Given the description of an element on the screen output the (x, y) to click on. 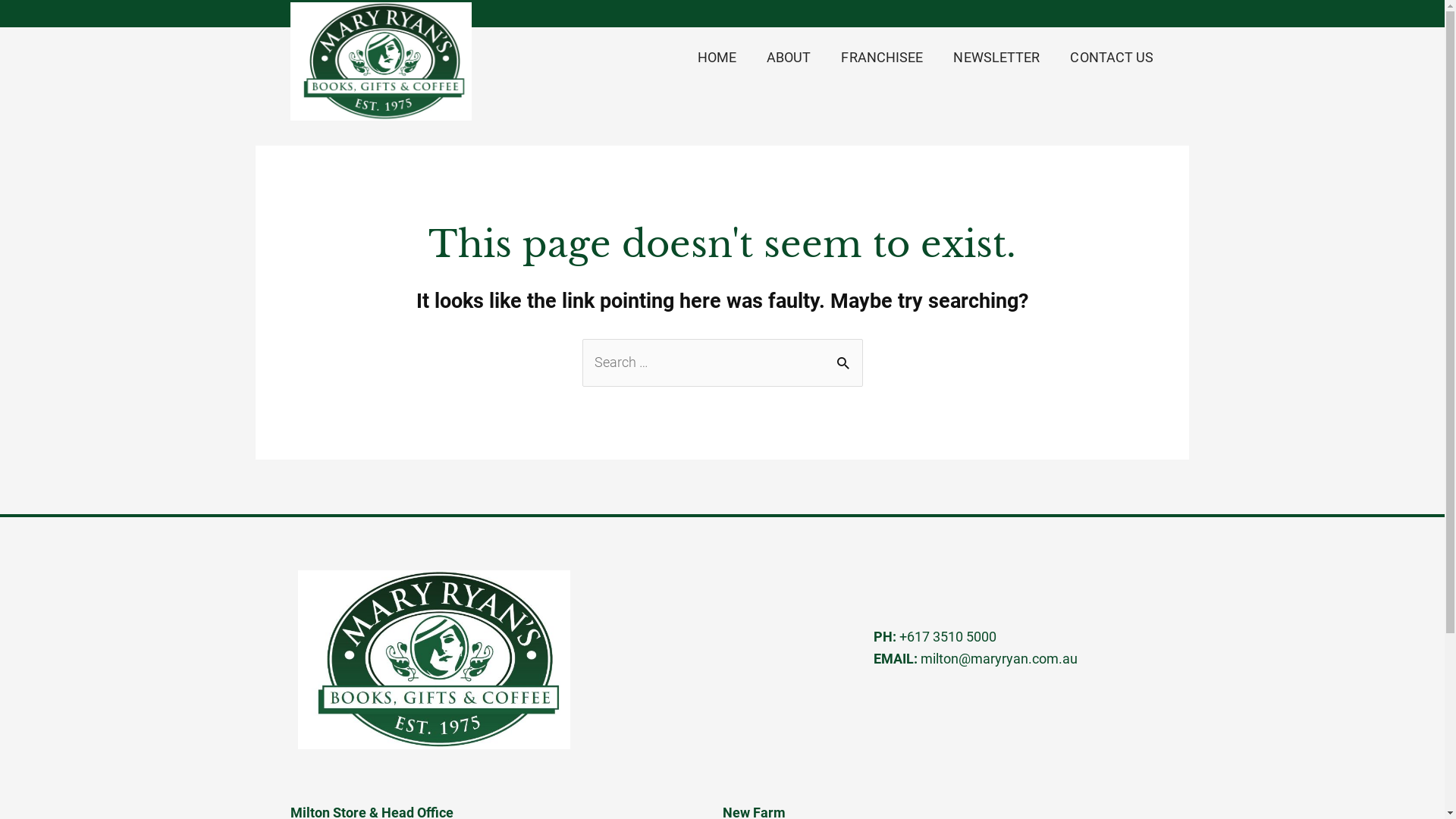
Search Element type: text (845, 360)
HOME Element type: text (716, 57)
CONTACT US Element type: text (1111, 57)
FRANCHISEE Element type: text (881, 57)
ABOUT Element type: text (788, 57)
NEWSLETTER Element type: text (996, 57)
